Given the description of an element on the screen output the (x, y) to click on. 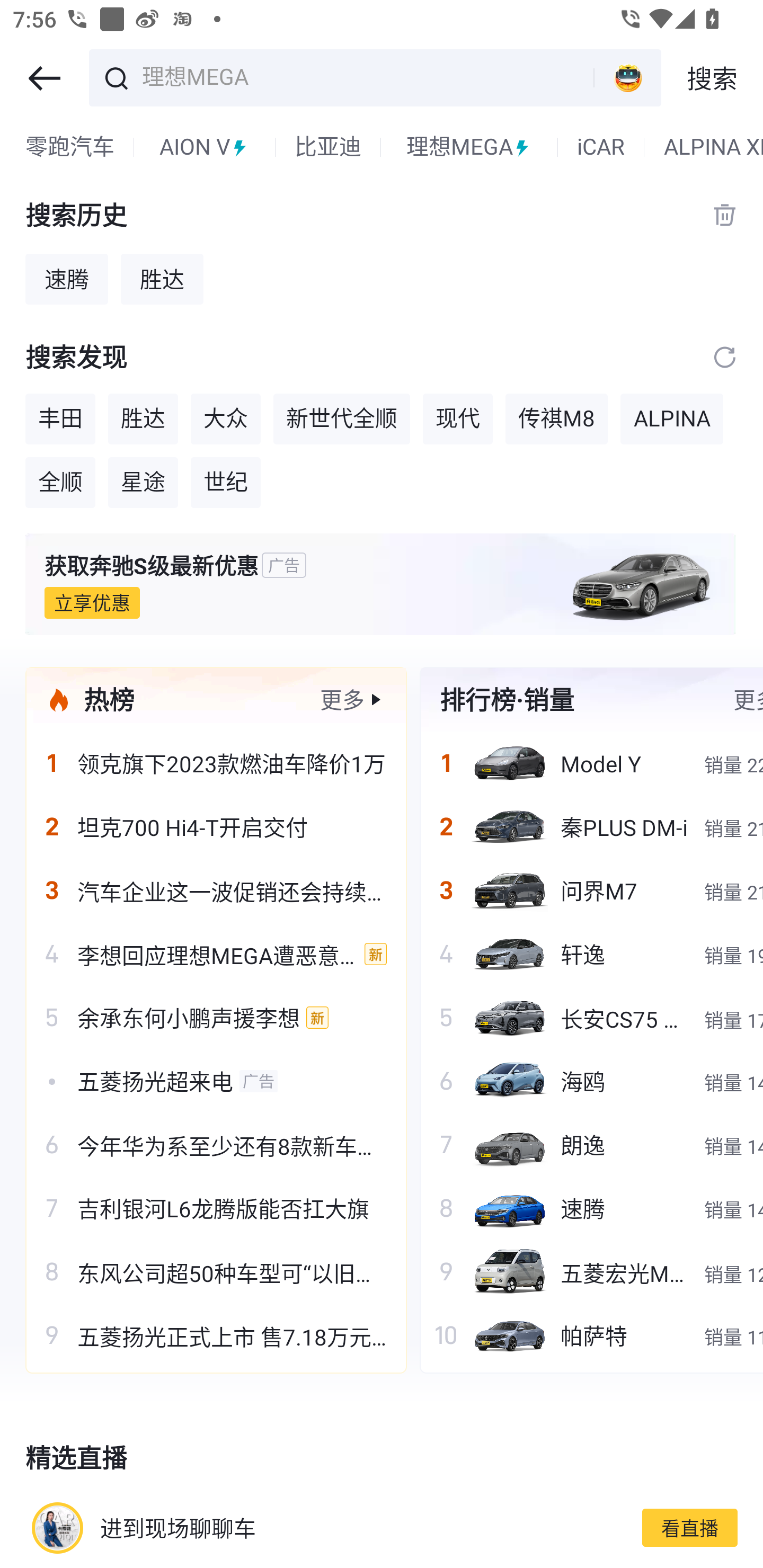
 理想MEGA (364, 76)
 (44, 78)
搜索 (711, 78)
零跑汽车 (69, 147)
AION V (204, 147)
比亚迪 (327, 147)
理想MEGA (468, 147)
iCAR (600, 147)
速腾 (66, 278)
胜达 (161, 278)
 (724, 357)
丰田 (60, 418)
胜达 (142, 418)
大众 (225, 418)
新世代全顺 (341, 418)
现代 (457, 418)
传祺M8 (556, 418)
ALPINA (671, 418)
全顺 (60, 482)
星途 (142, 482)
世纪 (225, 482)
获取奔驰S级最新优惠 广告 立享优惠 (381, 584)
更多 (341, 699)
领克旗下2023款燃油车降价1万 (215, 763)
Model Y 销量 22537 (591, 763)
坦克700 Hi4-T开启交付 (215, 826)
秦PLUS DM-i 销量 21268 (591, 826)
汽车企业这一波促销还会持续多久 (215, 890)
问界M7 销量 21083 (591, 890)
李想回应理想MEGA遭恶意P图 (215, 953)
轩逸 销量 19878 (591, 953)
余承东何小鹏声援李想 (215, 1017)
长安CS75 PLUS 销量 17303 (591, 1017)
五菱扬光超来电 (215, 1080)
海鸥 销量 14403 (591, 1080)
今年华为系至少还有8款新车要来 (215, 1144)
朗逸 销量 14400 (591, 1144)
吉利银河L6龙腾版能否扛大旗 (215, 1208)
速腾 销量 14209 (591, 1208)
东风公司超50种车型可“以旧换新” (215, 1271)
五菱宏光MINIEV 销量 12649 (591, 1271)
五菱扬光正式上市 售7.18万元起 (215, 1335)
帕萨特 销量 11641 (591, 1335)
进到现场聊聊车 看直播 (381, 1526)
